Given the description of an element on the screen output the (x, y) to click on. 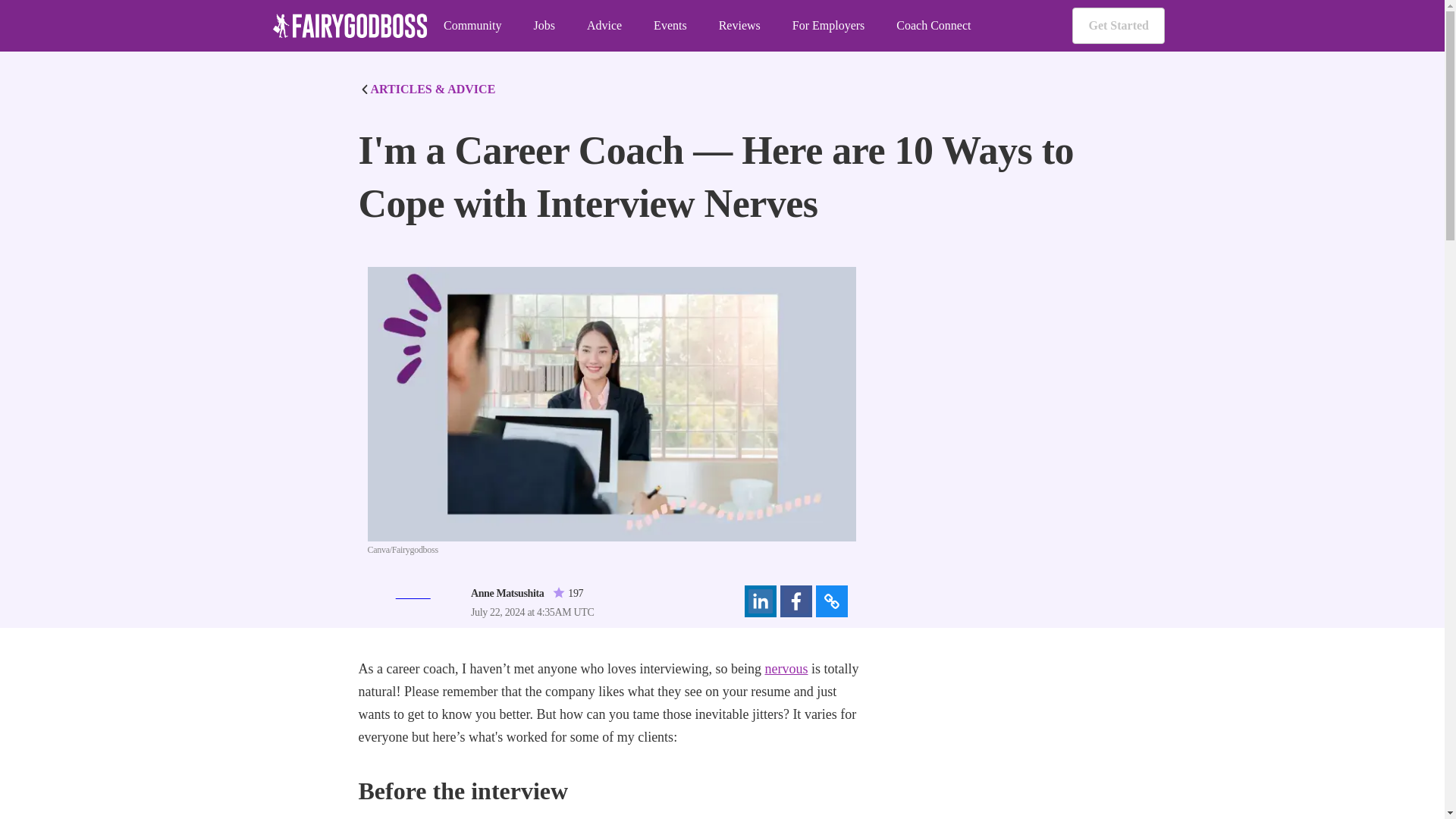
For Employers (828, 25)
nervous (786, 668)
Coach Connect (933, 25)
Reviews (739, 25)
Jobs (543, 25)
For Employers (828, 25)
Events (670, 25)
Events (670, 25)
Coach Connect (933, 25)
Advice (603, 25)
Advice (603, 25)
Community (472, 25)
Get Started (1117, 25)
Reviews (739, 25)
Jobs (543, 25)
